Given the description of an element on the screen output the (x, y) to click on. 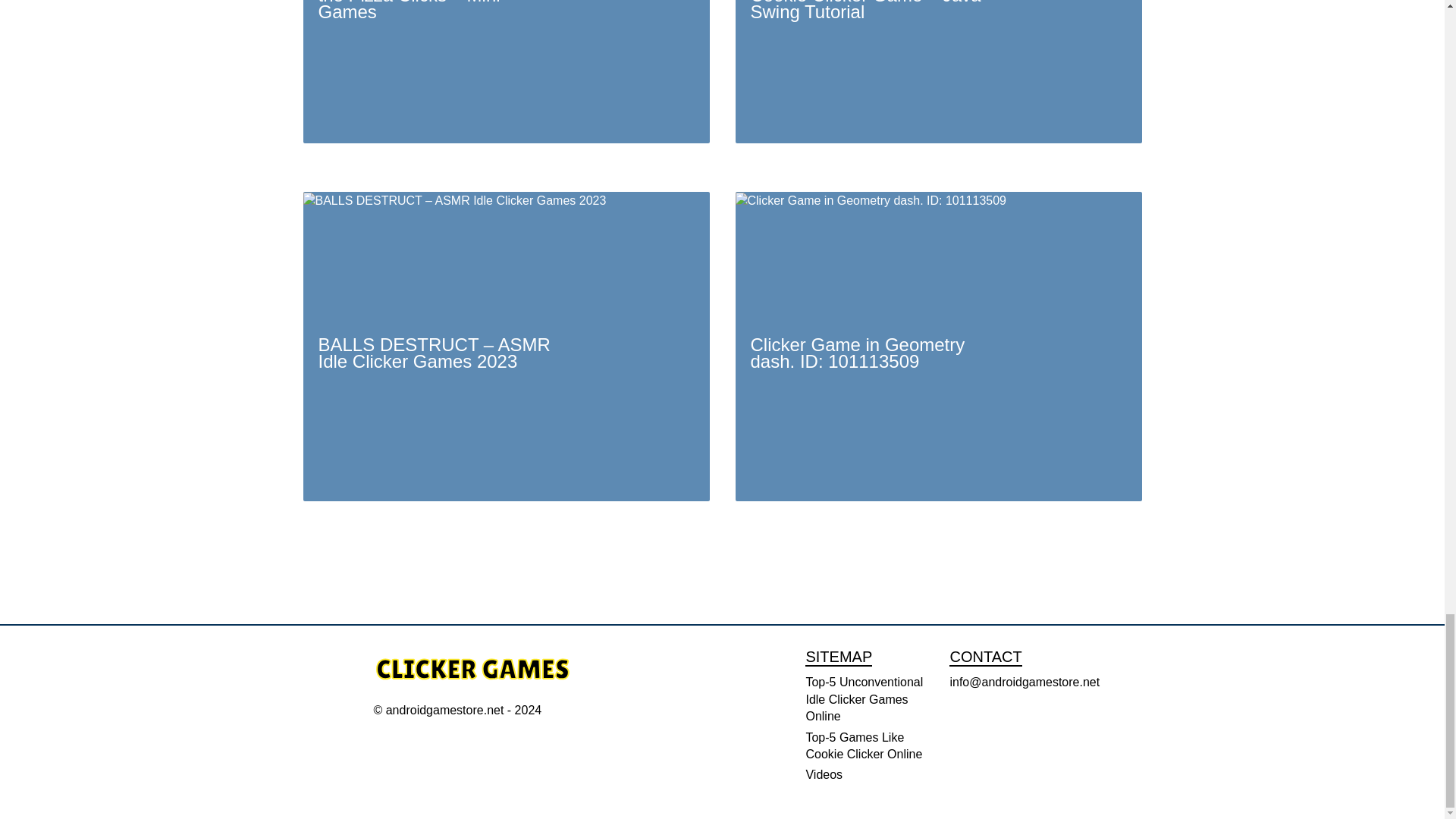
Top-5 Games Like Cookie Clicker Online (863, 745)
Videos (824, 774)
Clicker Game in Geometry dash. ID: 101113509 (938, 346)
Top-5 Unconventional Idle Clicker Games Online (864, 698)
